Given the description of an element on the screen output the (x, y) to click on. 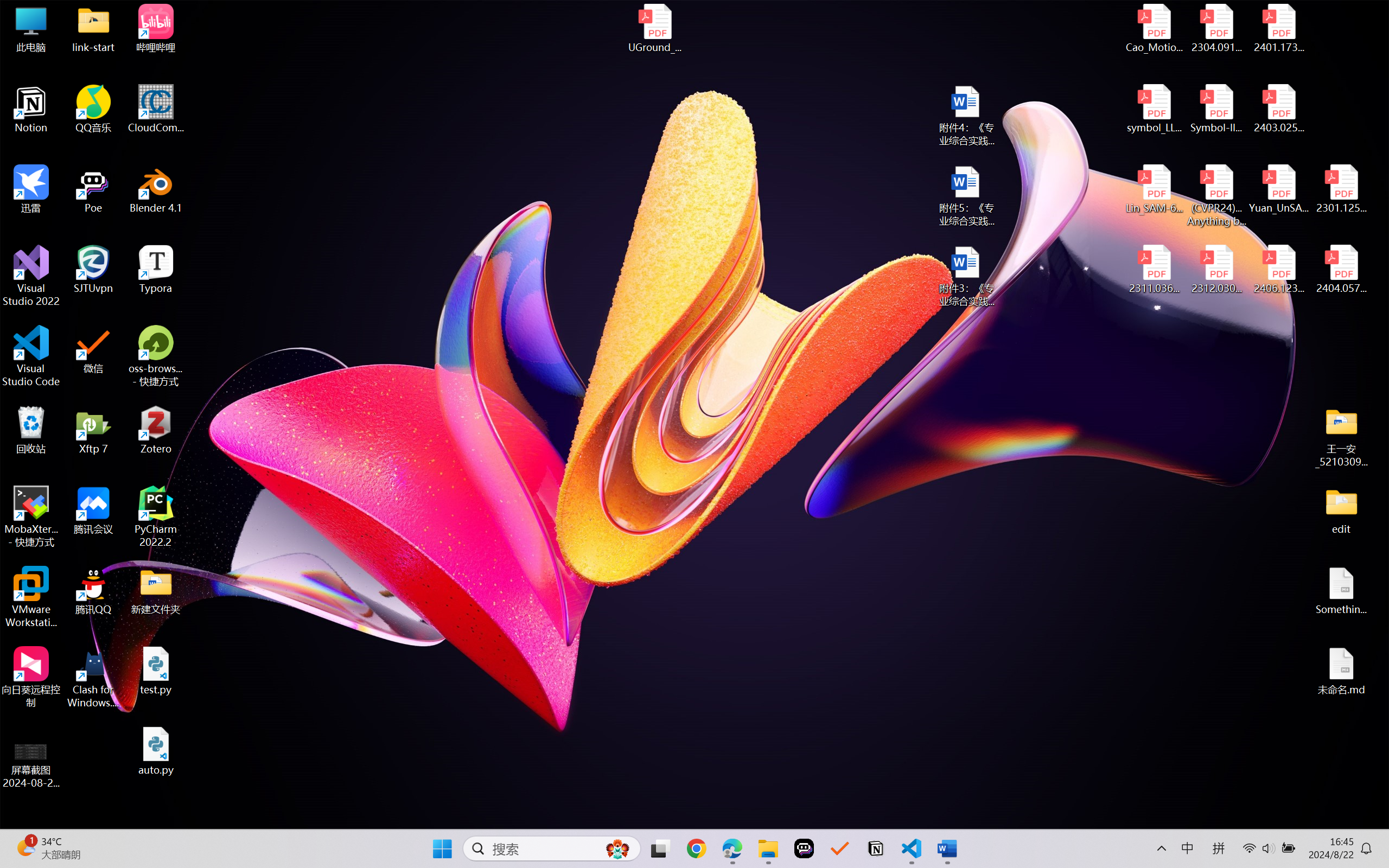
edit (1340, 510)
2403.02502v1.pdf (1278, 109)
2404.05719v1.pdf (1340, 269)
2401.17399v1.pdf (1278, 28)
UGround_paper.pdf (654, 28)
